Given the description of an element on the screen output the (x, y) to click on. 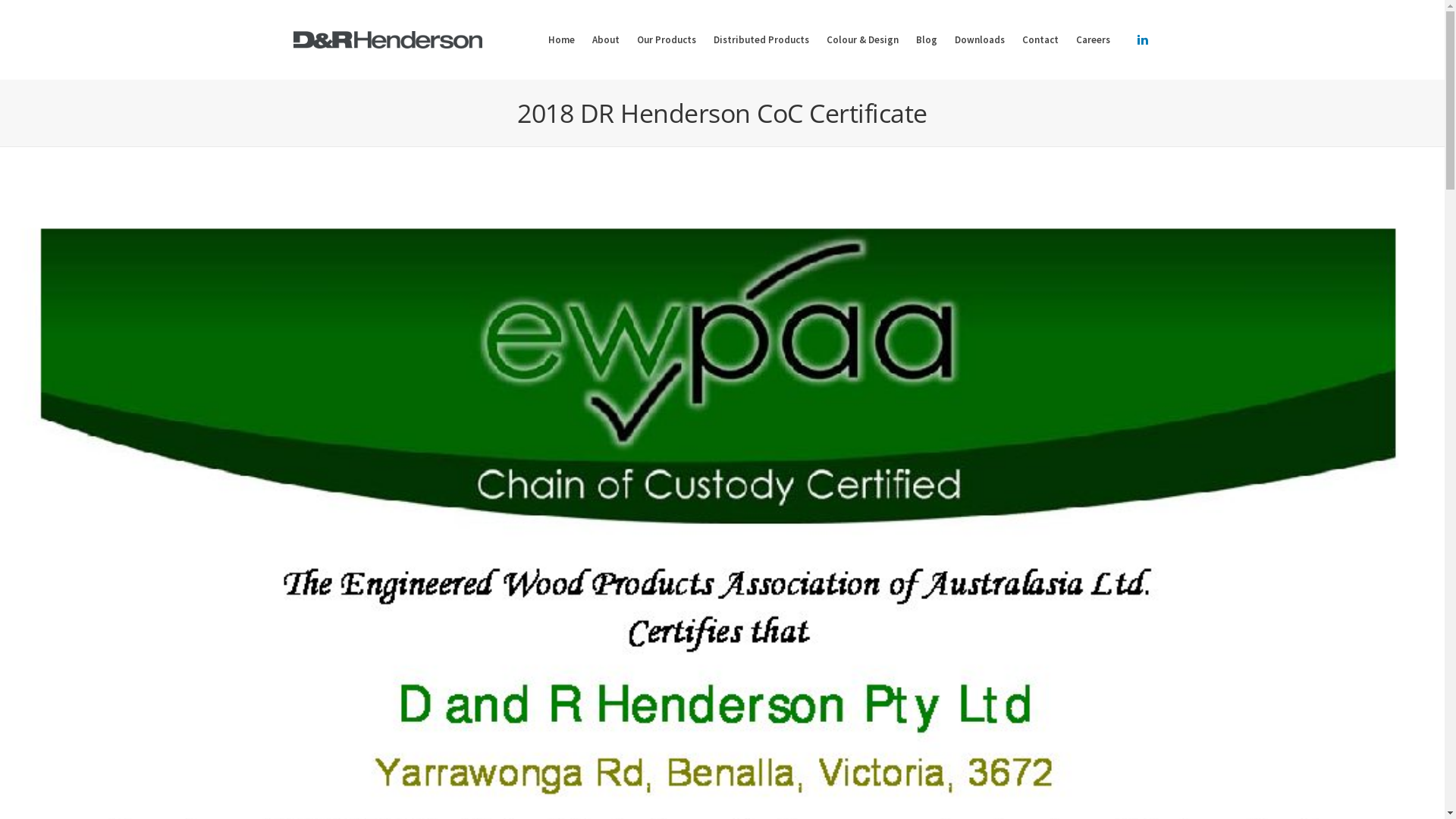
Blog Element type: text (926, 39)
Downloads Element type: text (978, 39)
Home Element type: text (560, 39)
About Element type: text (604, 39)
Colour & Design Element type: text (862, 39)
Distributed Products Element type: text (760, 39)
Our Products Element type: text (666, 39)
Contact Element type: text (1040, 39)
Careers Element type: text (1092, 39)
